Given the description of an element on the screen output the (x, y) to click on. 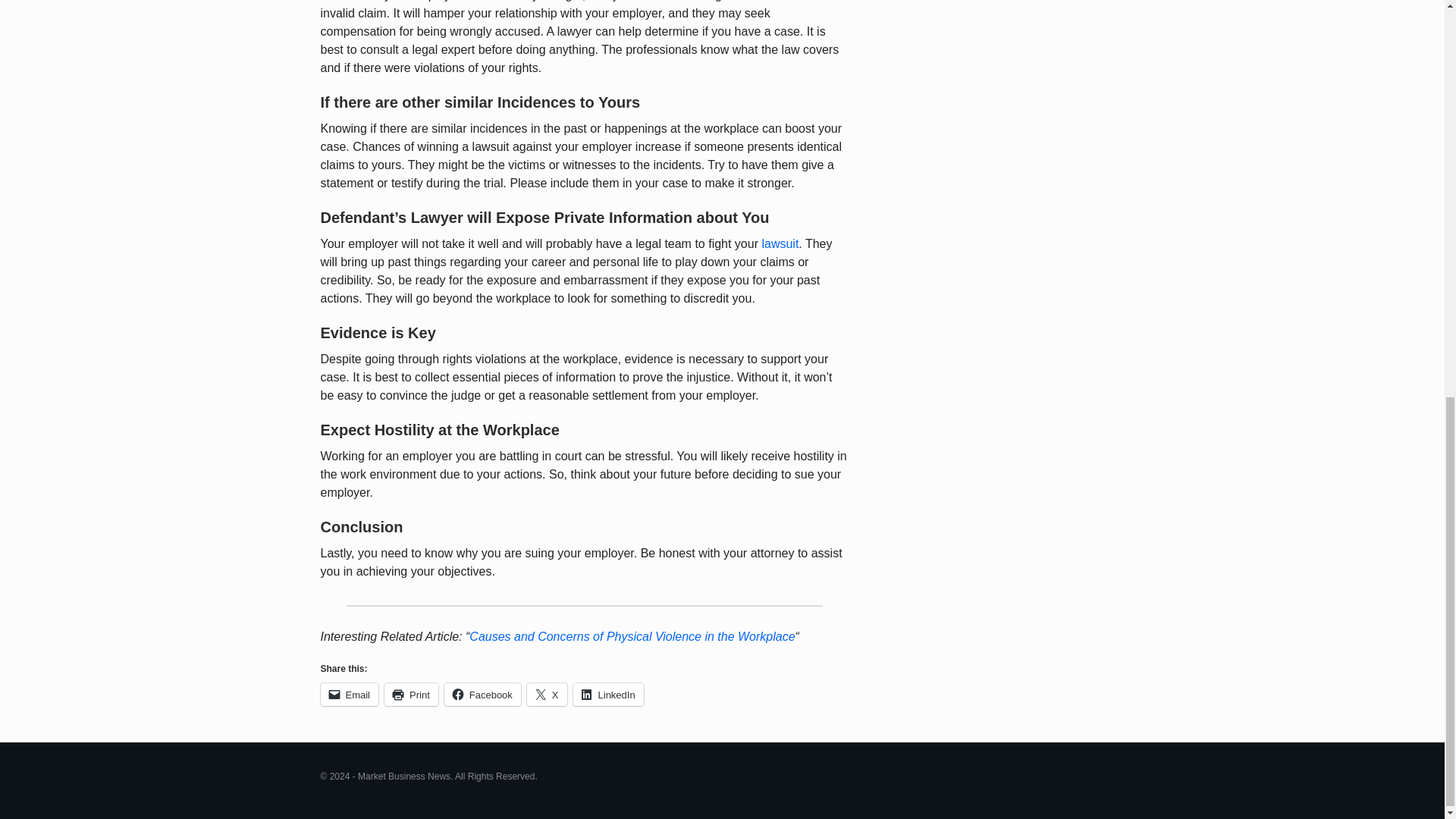
Click to share on Facebook (482, 694)
Causes and Concerns of Physical Violence in the Workplace (631, 635)
LinkedIn (608, 694)
Click to share on X (547, 694)
Facebook (482, 694)
Email (349, 694)
X (547, 694)
Print (411, 694)
Click to email a link to a friend (349, 694)
Click to share on LinkedIn (608, 694)
lawsuit (779, 243)
Click to print (411, 694)
